Given the description of an element on the screen output the (x, y) to click on. 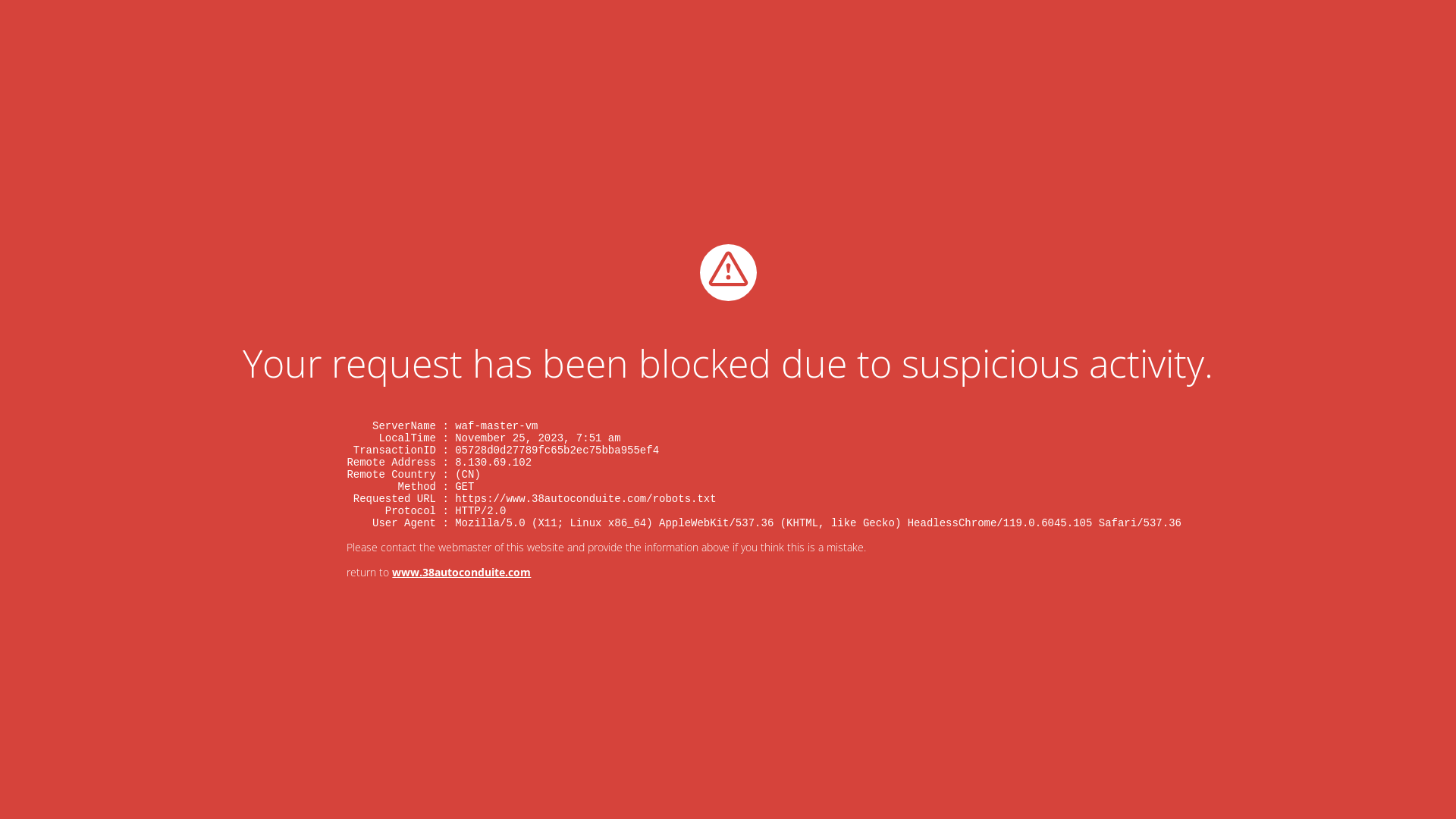
www.38autoconduite.com Element type: text (461, 571)
